Given the description of an element on the screen output the (x, y) to click on. 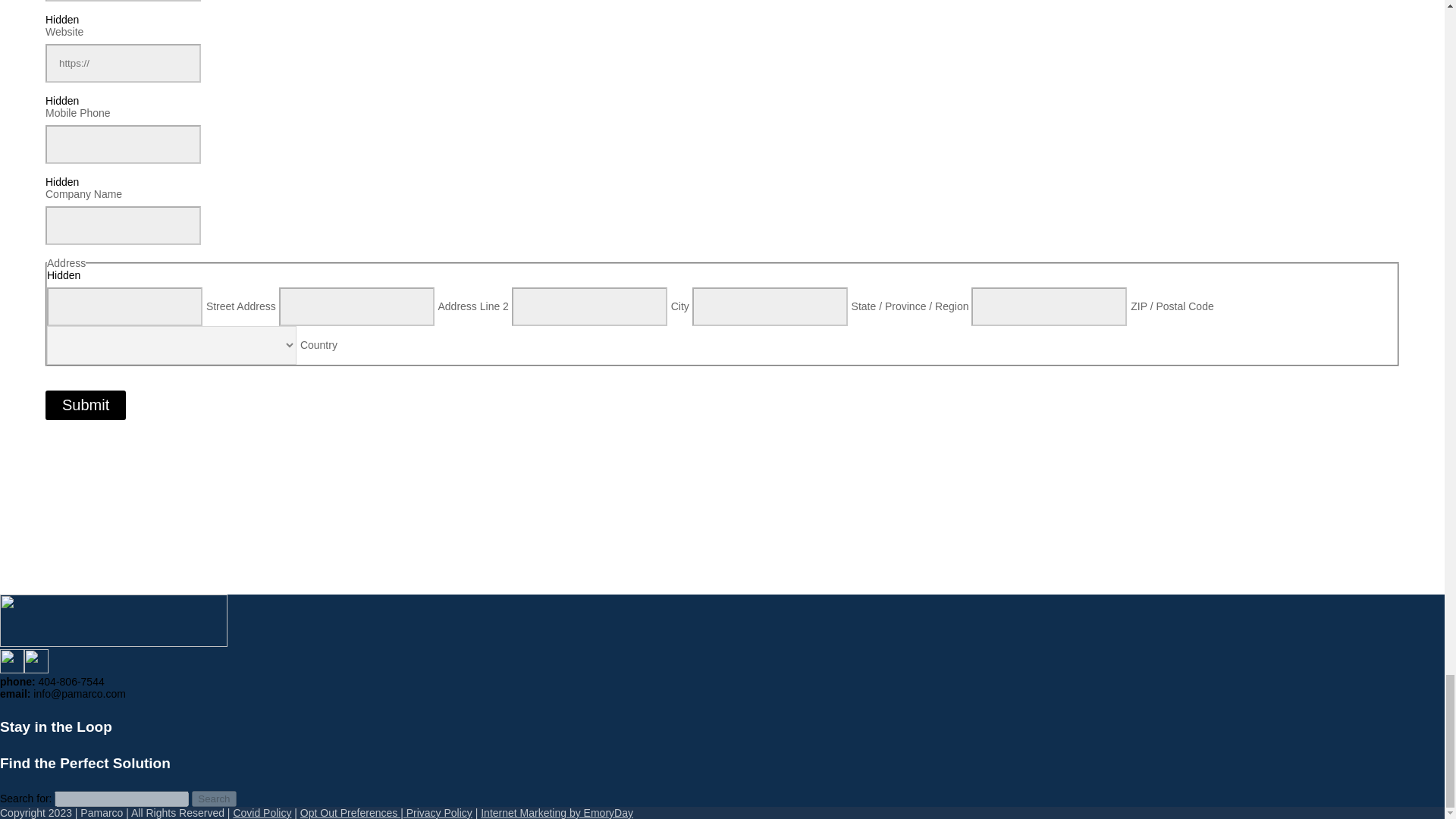
Submit (85, 405)
Search (213, 798)
